Given the description of an element on the screen output the (x, y) to click on. 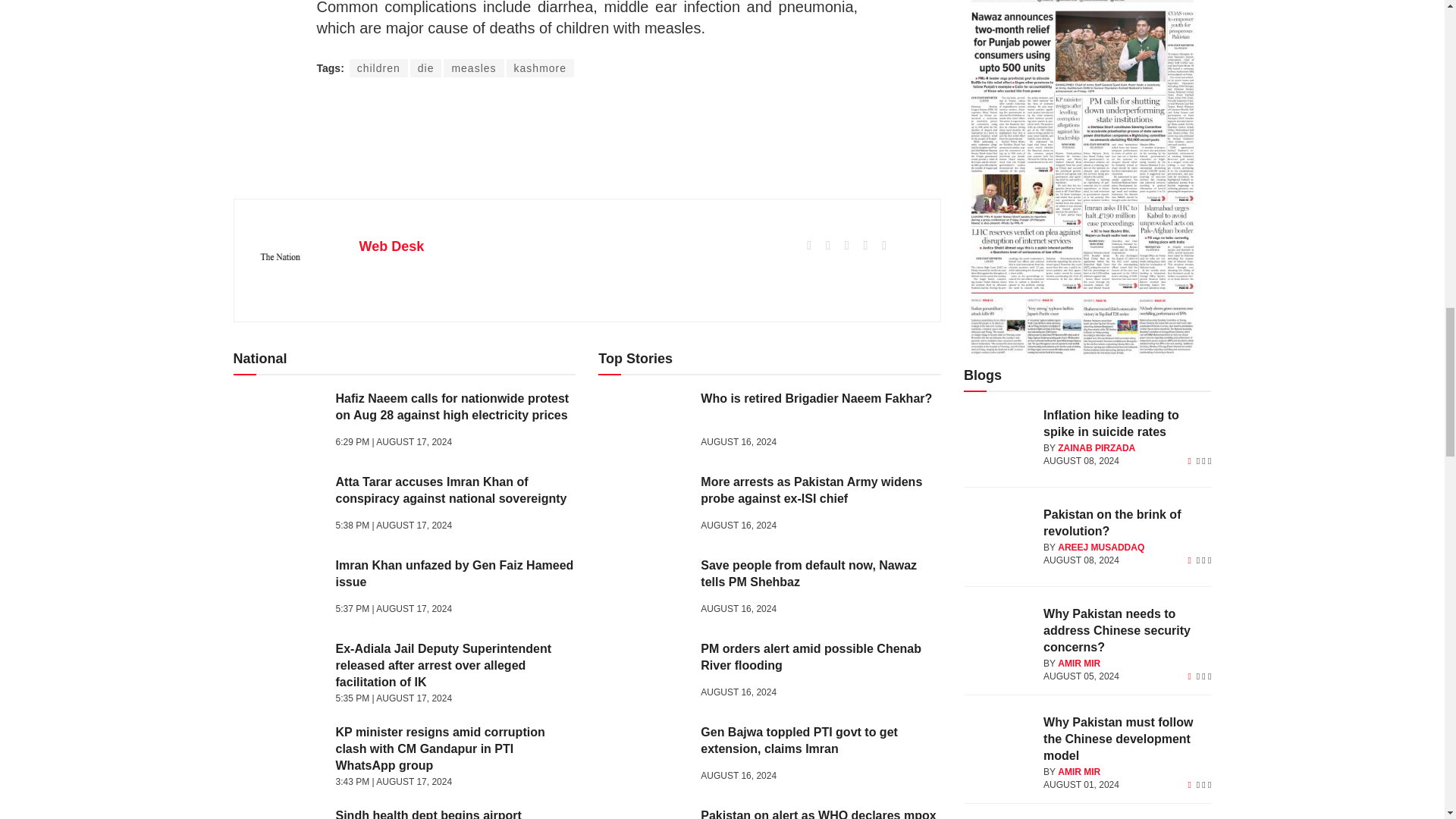
PM orders alert amid possible Chenab River flooding (643, 672)
Imran Khan unfazed by Gen Faiz Hameed issue (278, 589)
Gen Bajwa toppled PTI govt to get extension, claims Imran (643, 755)
Sindh health dept begins airport screenings for mpox virus (278, 813)
